Given the description of an element on the screen output the (x, y) to click on. 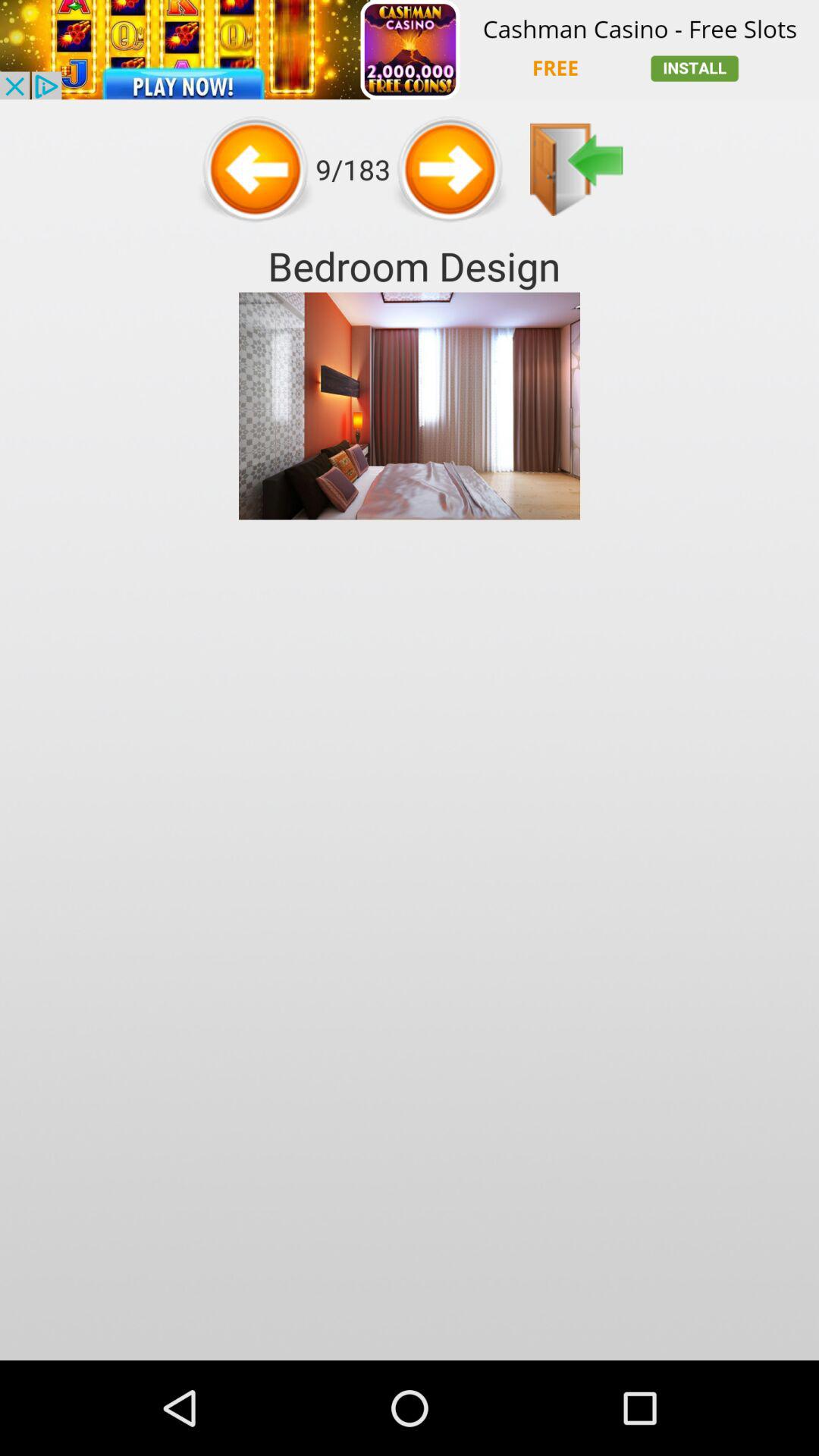
go back (576, 169)
